Given the description of an element on the screen output the (x, y) to click on. 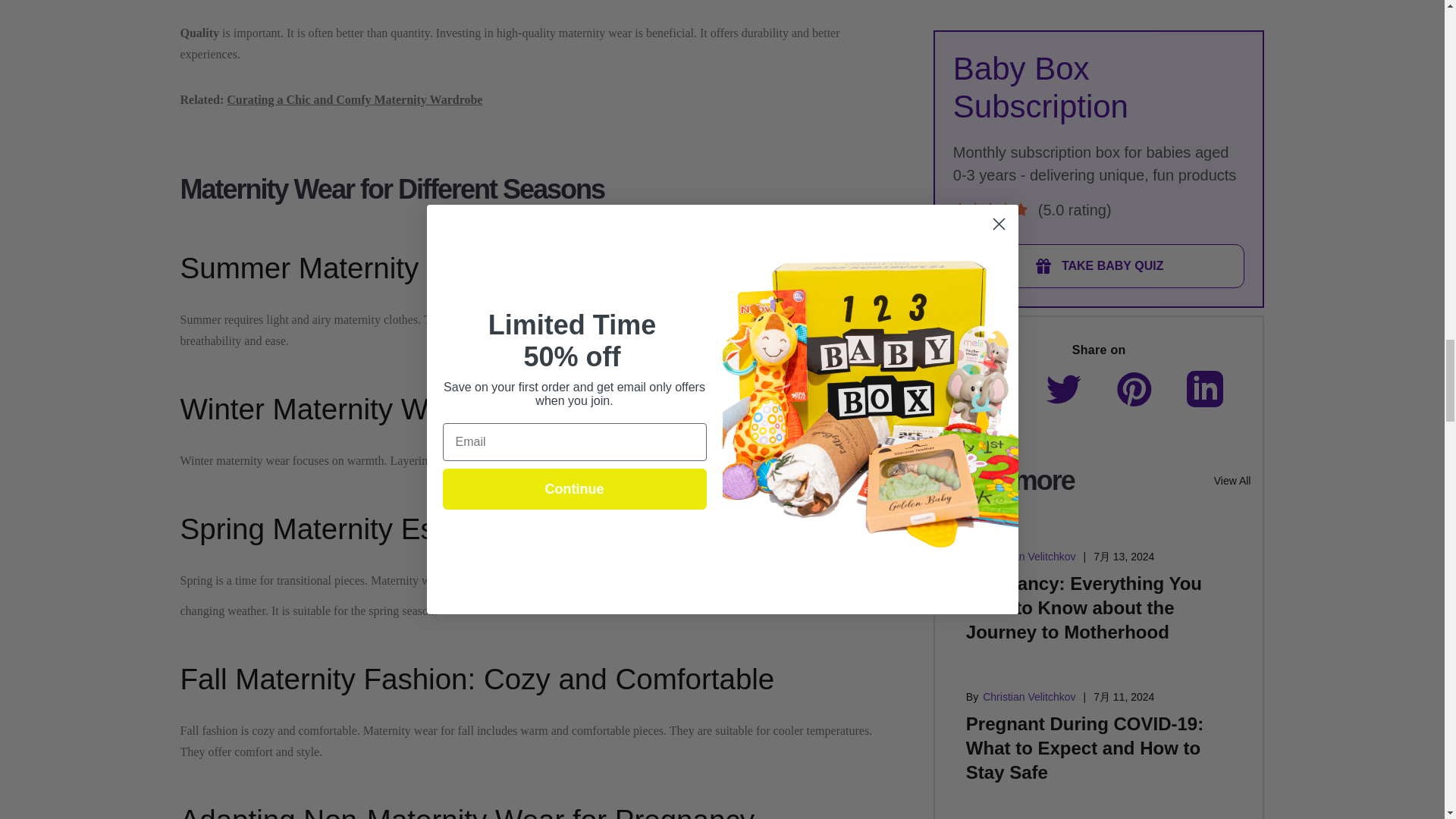
Curating a Chic and Comfy Maternity Wardrobe (354, 99)
